Given the description of an element on the screen output the (x, y) to click on. 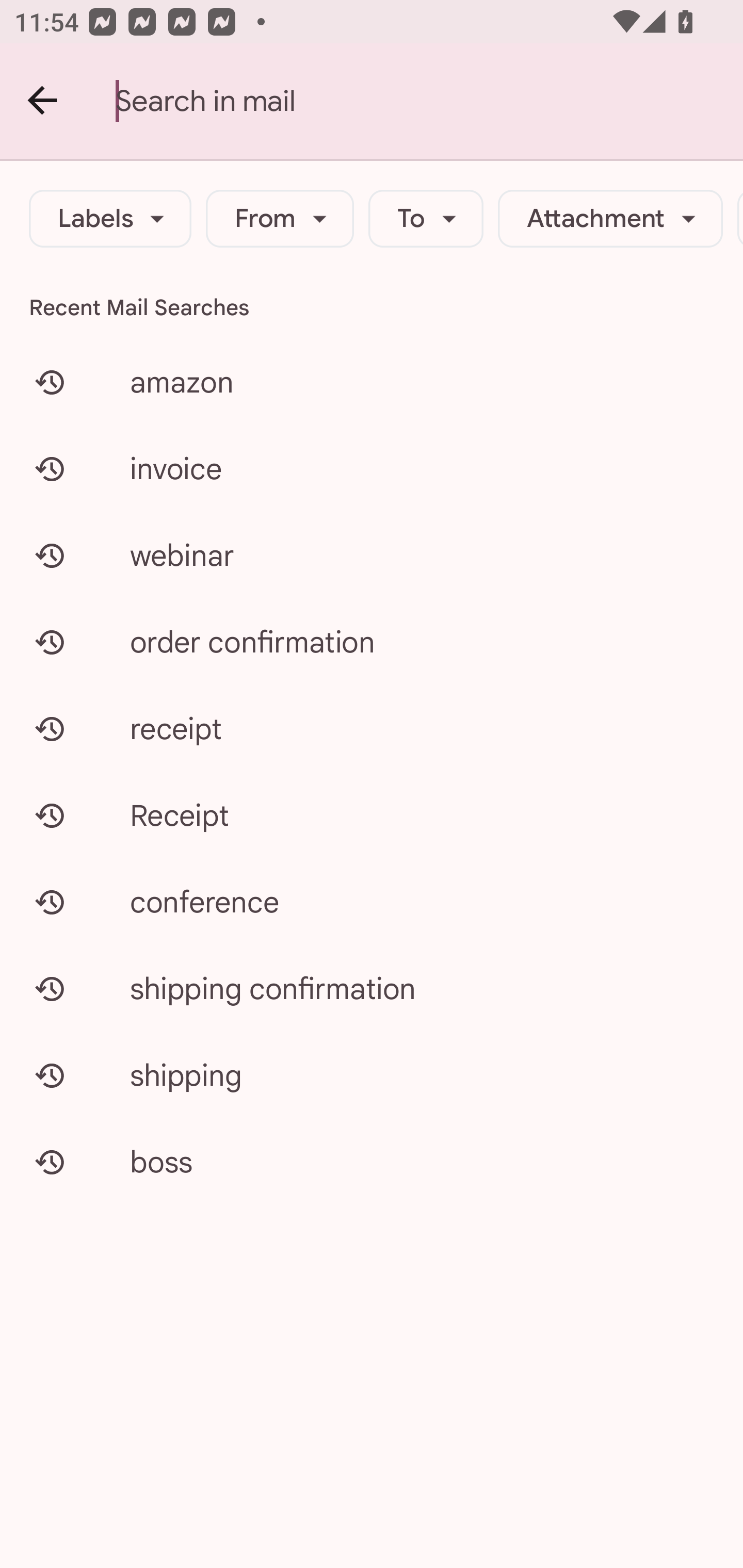
Back (43, 101)
Search in mail (429, 101)
Labels (109, 218)
From (279, 218)
To (425, 218)
Attachment (609, 218)
Recent Mail Searches (371, 306)
amazon Suggestion: amazon (371, 381)
invoice Suggestion: invoice (371, 468)
webinar Suggestion: webinar (371, 555)
order confirmation Suggestion: order confirmation (371, 641)
receipt Suggestion: receipt (371, 728)
Receipt Suggestion: Receipt (371, 815)
conference Suggestion: conference (371, 902)
shipping Suggestion: shipping (371, 1074)
boss Suggestion: boss (371, 1161)
